Given the description of an element on the screen output the (x, y) to click on. 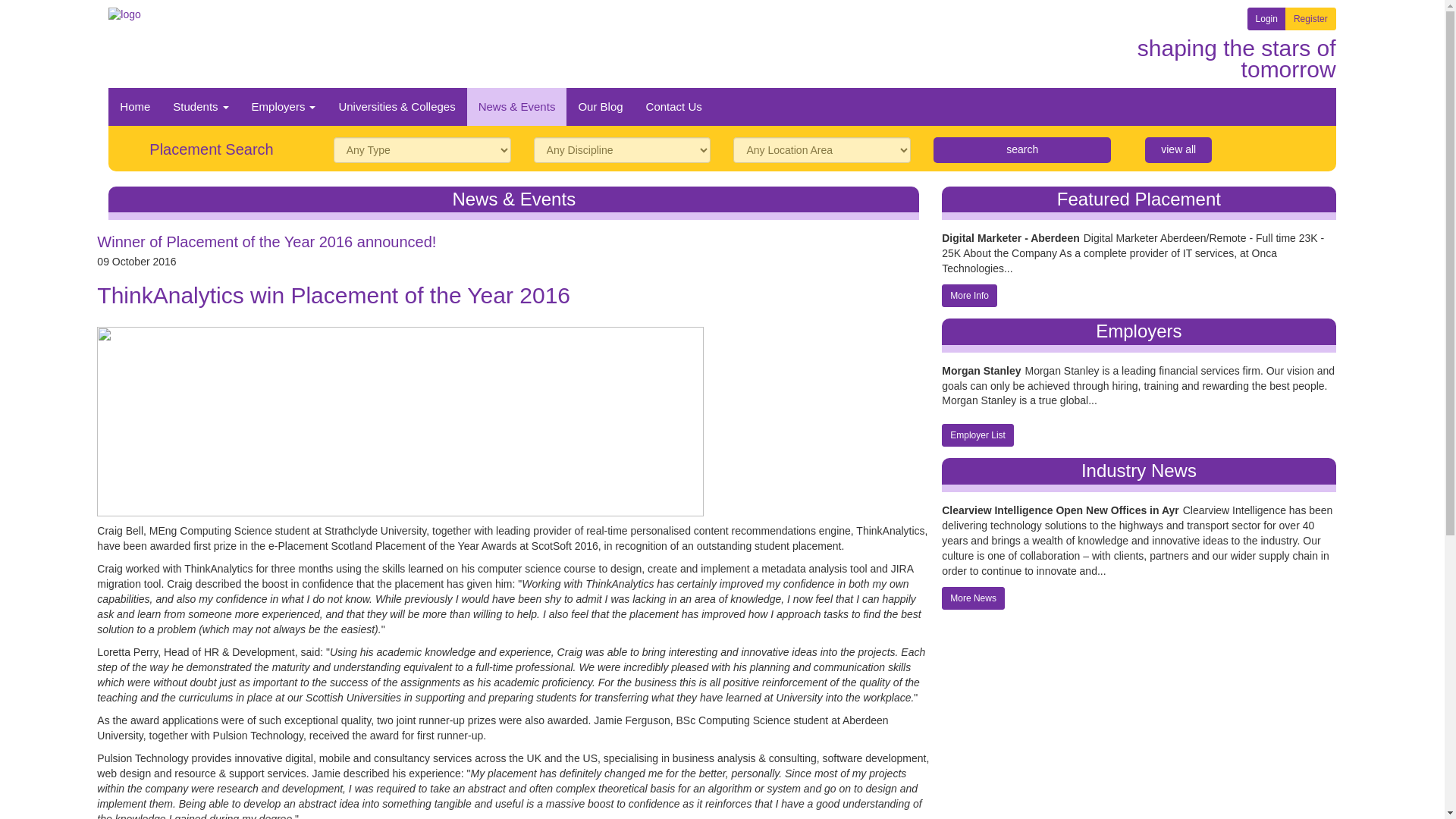
Morgan Stanley (981, 371)
Search (1021, 149)
Clearview Intelligence Open New Offices in Ayr (1060, 510)
Our Blog (599, 106)
Home (134, 106)
Search (1021, 149)
Contact Us (673, 106)
Students (200, 106)
See all (1177, 149)
Employers (283, 106)
view all (1177, 149)
Digital Marketer - Aberdeen (1011, 237)
More News (973, 598)
Search (1021, 149)
Employer List (977, 435)
